Given the description of an element on the screen output the (x, y) to click on. 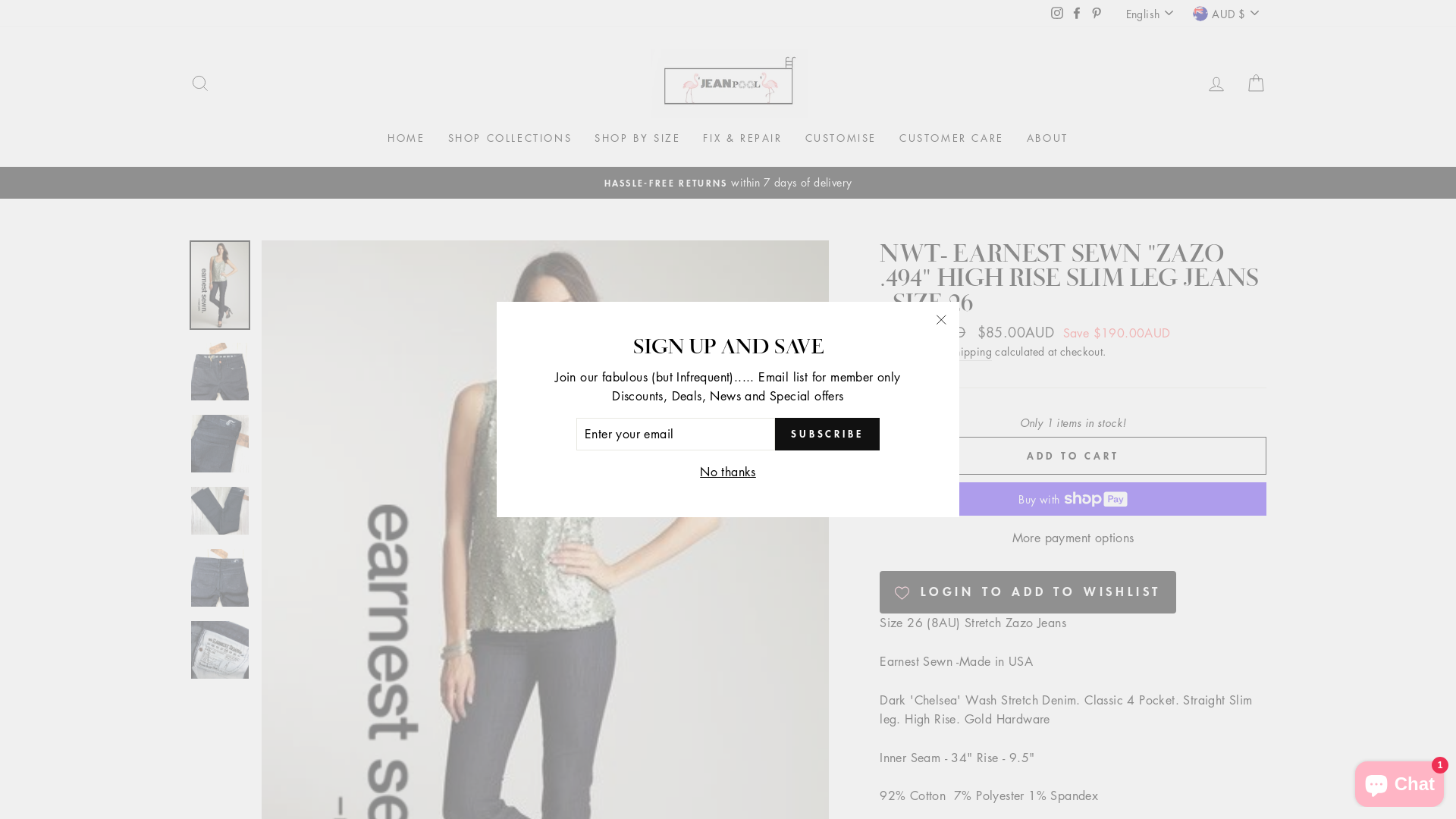
ABOUT Element type: text (1047, 138)
CUSTOMISE Element type: text (840, 138)
SUBSCRIBE Element type: text (827, 434)
AUD $ Element type: text (1227, 13)
SHOP BY SIZE Element type: text (637, 138)
SHOP COLLECTIONS Element type: text (509, 138)
SEARCH Element type: text (199, 82)
Instagram Element type: text (1056, 12)
No thanks Element type: text (727, 472)
Shipping Element type: text (969, 351)
HOME Element type: text (406, 138)
"Close (esc)" Element type: text (940, 319)
More payment options Element type: text (1072, 538)
FIX & REPAIR Element type: text (742, 138)
CUSTOMER CARE Element type: text (951, 138)
Facebook Element type: text (1076, 12)
Skip to content Element type: text (0, 0)
LOG IN Element type: text (1216, 82)
Shopify online store chat Element type: hover (1399, 780)
English Element type: text (1150, 13)
Pinterest Element type: text (1096, 12)
CART Element type: text (1255, 82)
ADD TO CART Element type: text (1072, 455)
